Given the description of an element on the screen output the (x, y) to click on. 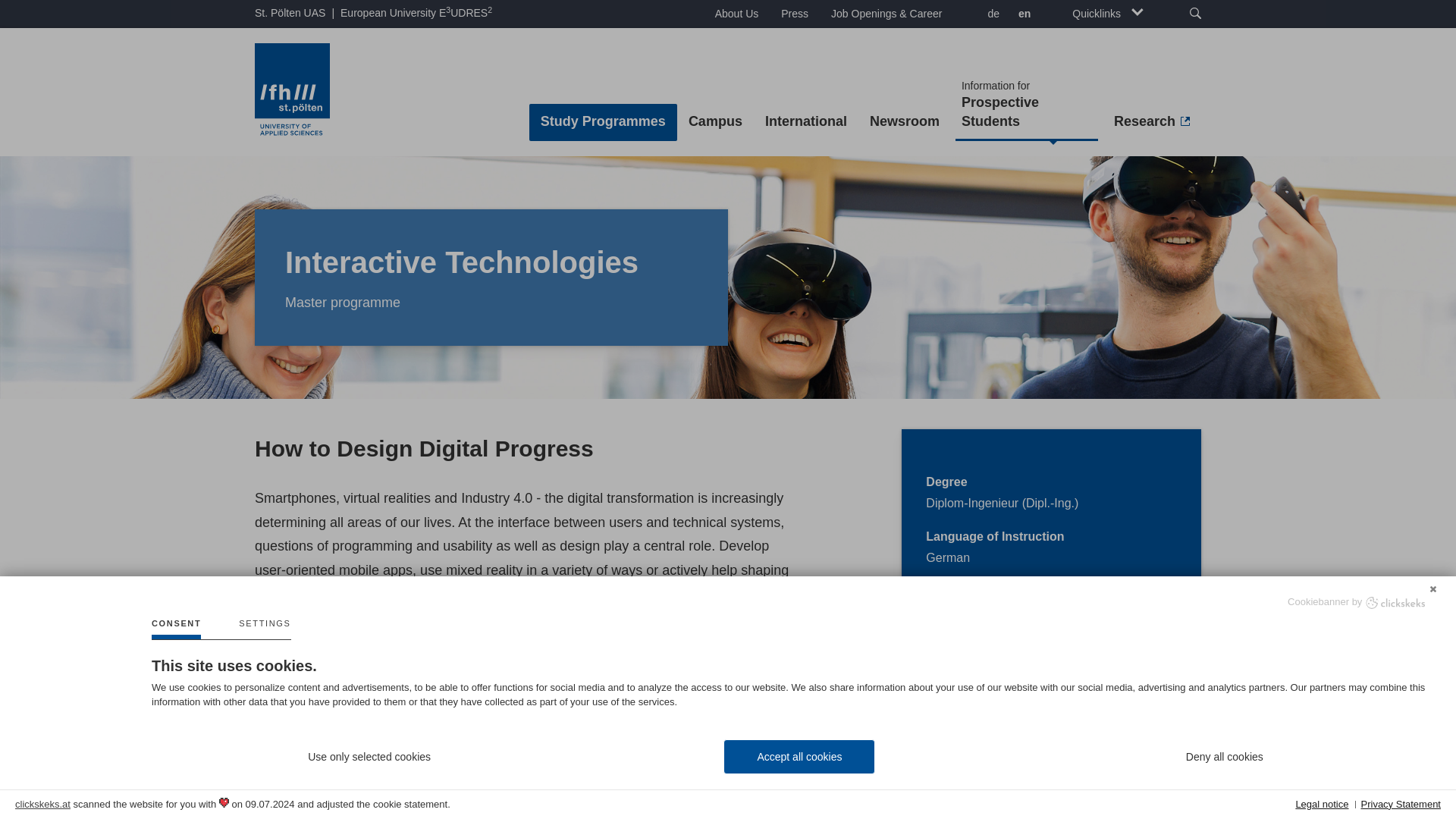
International (806, 122)
Details (263, 628)
Unterrichtssprache (322, 706)
Research (1026, 105)
Quicklinks (1151, 122)
Press (1107, 14)
Newsroom (794, 14)
on (904, 122)
European University E3UDRES2 (736, 14)
de (416, 12)
clickskeks.at (991, 14)
